Given the description of an element on the screen output the (x, y) to click on. 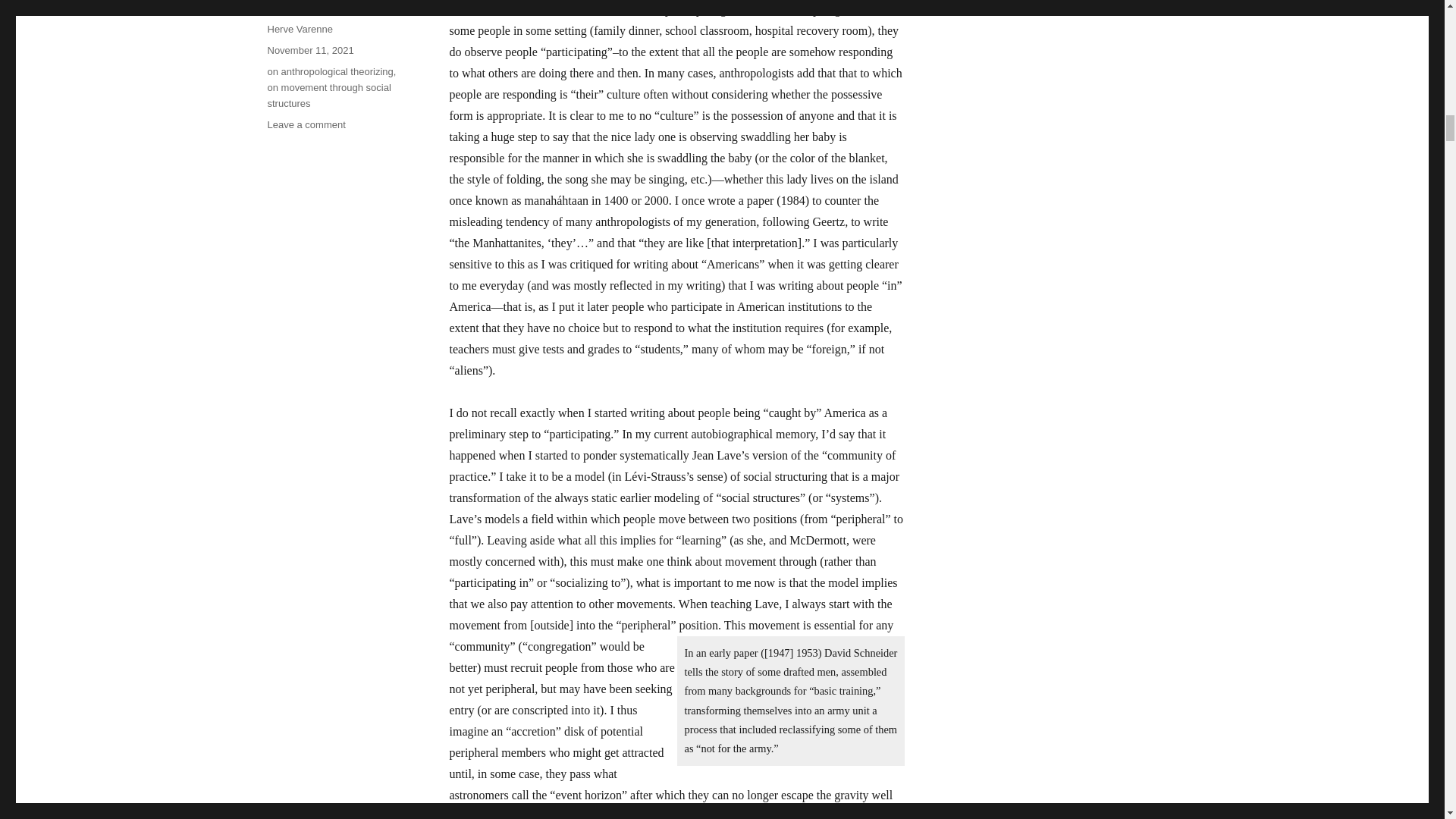
on movement through social structures (328, 94)
on anthropological theorizing (329, 71)
Herve Varenne (298, 29)
November 11, 2021 (305, 124)
